Given the description of an element on the screen output the (x, y) to click on. 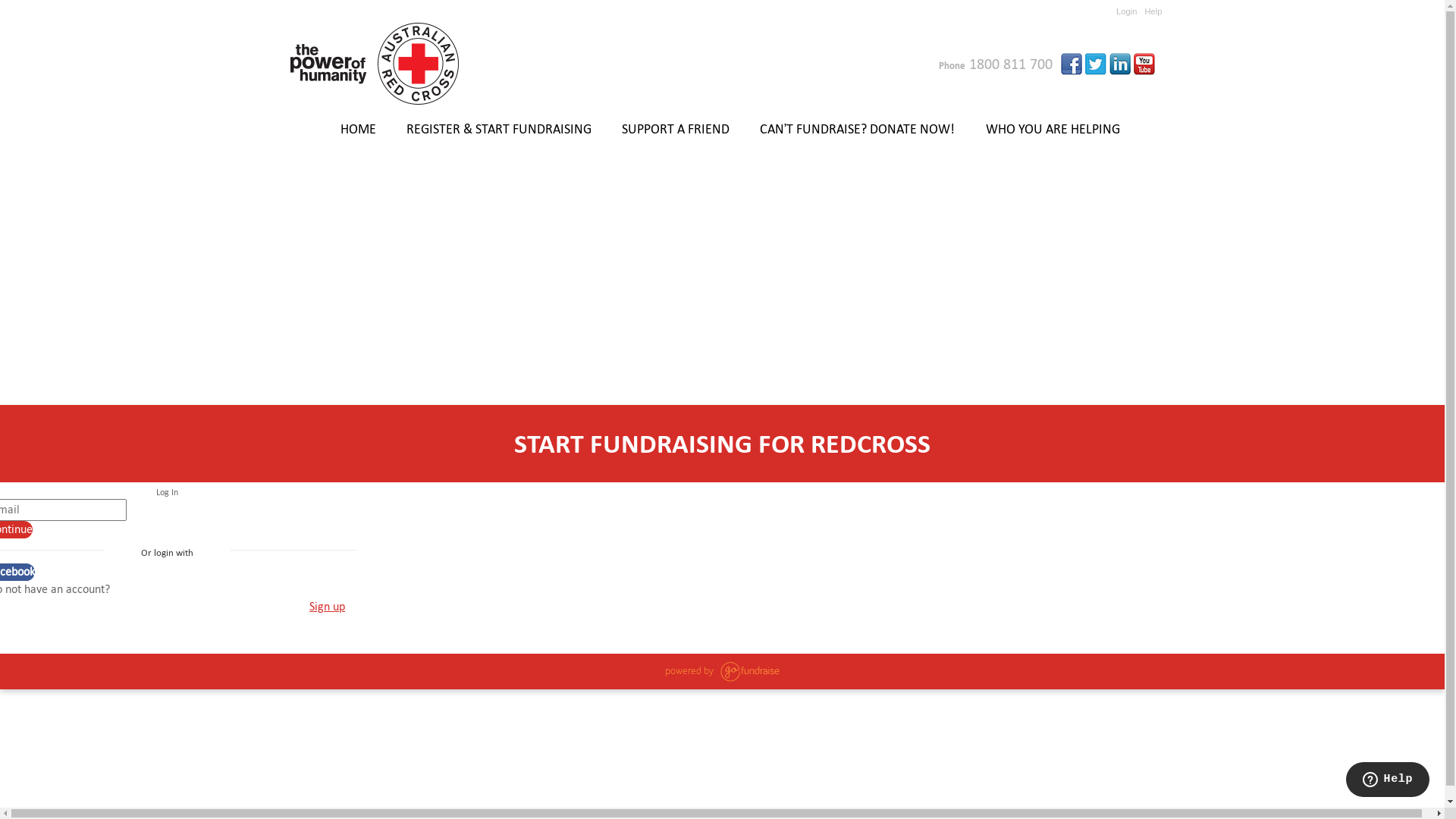
WHO YOU ARE HELPING Element type: text (1052, 129)
START FUNDRAISING FOR REDCROSS Element type: text (722, 443)
HOME Element type: text (357, 129)
Login Element type: text (1126, 11)
Help Element type: text (1152, 11)
REGISTER & START FUNDRAISING Element type: text (498, 129)
SUPPORT A FRIEND Element type: text (675, 129)
Sign up Element type: text (327, 606)
Opens a widget where you can find more information Element type: hover (1387, 781)
